Given the description of an element on the screen output the (x, y) to click on. 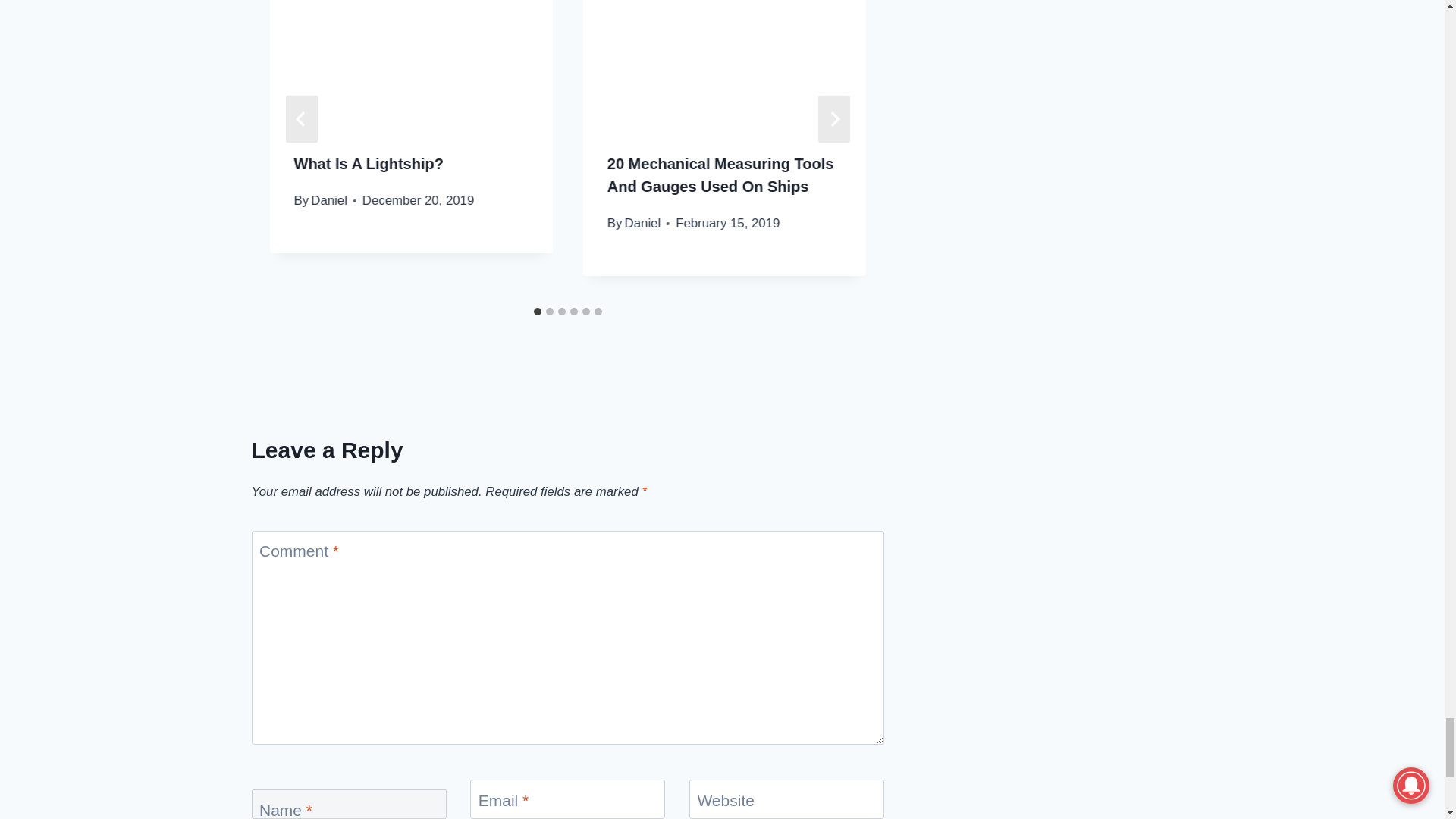
What Is A Lightship? 8 (411, 64)
20 Mechanical Measuring Tools And Gauges Used On Ships 9 (724, 64)
What Is A Lightship? (369, 163)
